Given the description of an element on the screen output the (x, y) to click on. 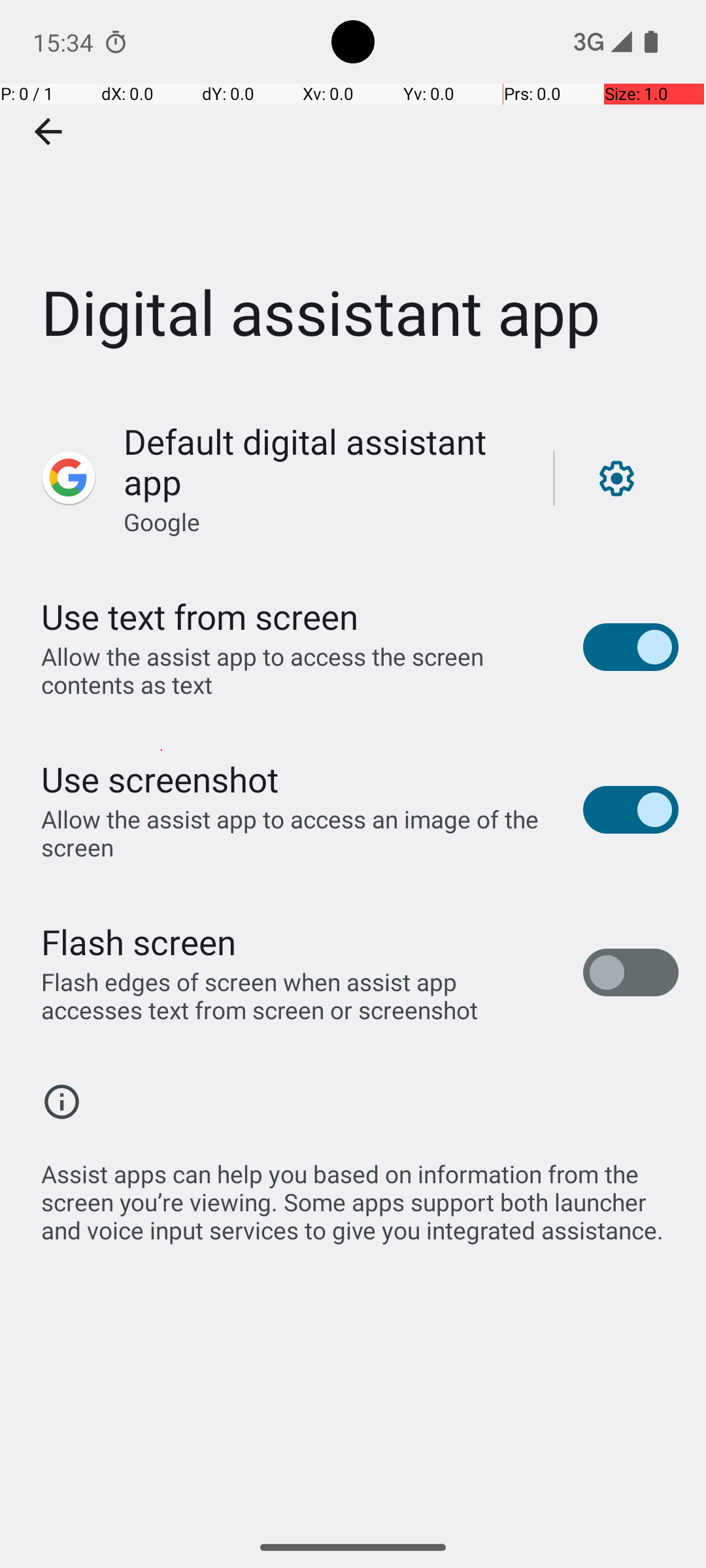
Digital assistant app Element type: android.widget.FrameLayout (353, 195)
Default digital assistant app Element type: android.widget.TextView (324, 461)
Use text from screen Element type: android.widget.TextView (199, 616)
Allow the assist app to access the screen contents as text Element type: android.widget.TextView (298, 670)
Use screenshot Element type: android.widget.TextView (159, 778)
Allow the assist app to access an image of the screen Element type: android.widget.TextView (298, 832)
Flash screen Element type: android.widget.TextView (138, 941)
Flash edges of screen when assist app accesses text from screen or screenshot Element type: android.widget.TextView (298, 995)
Assist apps can help you based on information from the screen you’re viewing. Some apps support both launcher and voice input services to give you integrated assistance. Element type: android.widget.TextView (359, 1194)
